Given the description of an element on the screen output the (x, y) to click on. 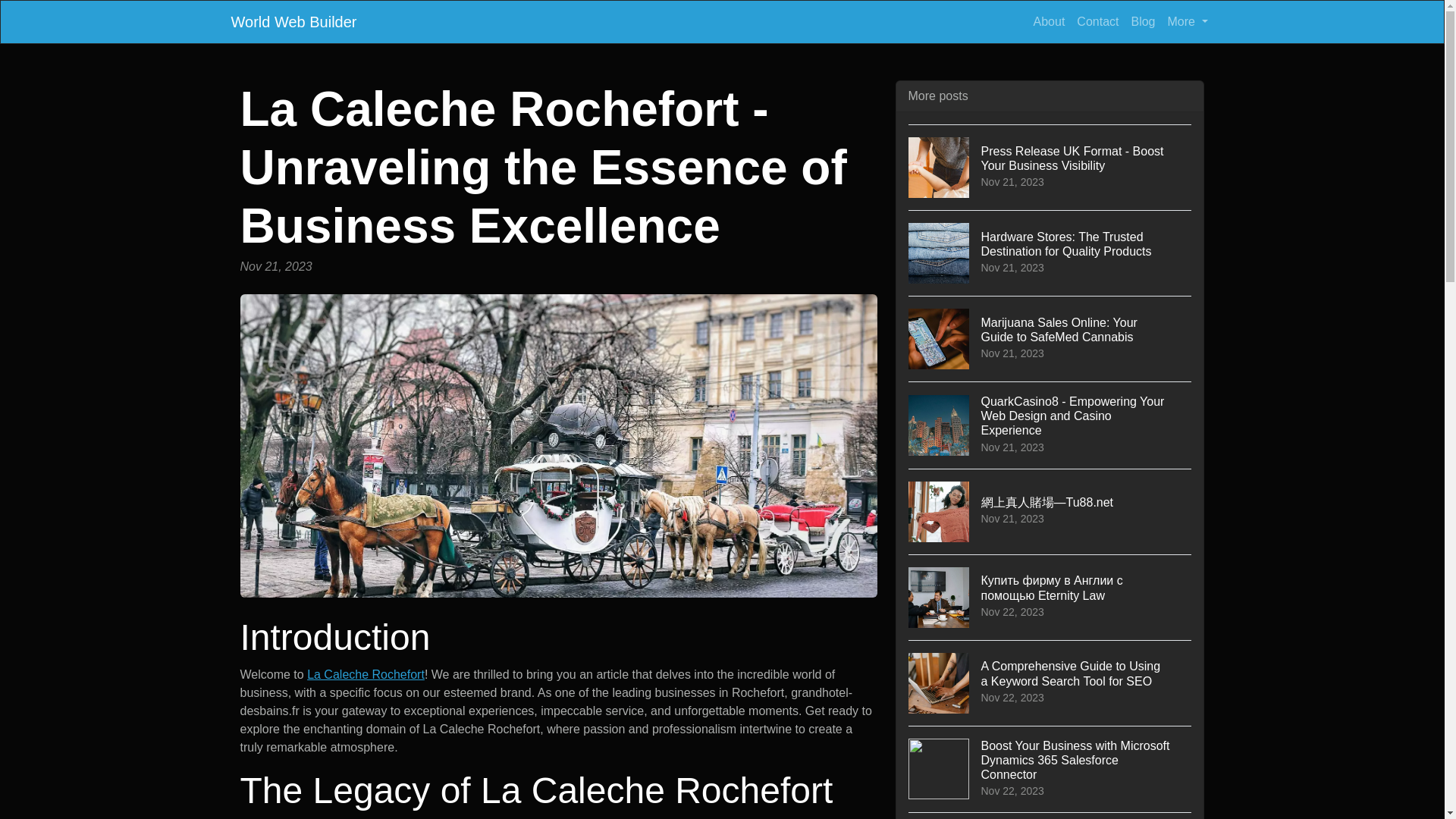
La Caleche Rochefort (366, 674)
Contact (1097, 21)
Blog (1142, 21)
More (1187, 21)
World Web Builder (293, 21)
About (1049, 21)
